Given the description of an element on the screen output the (x, y) to click on. 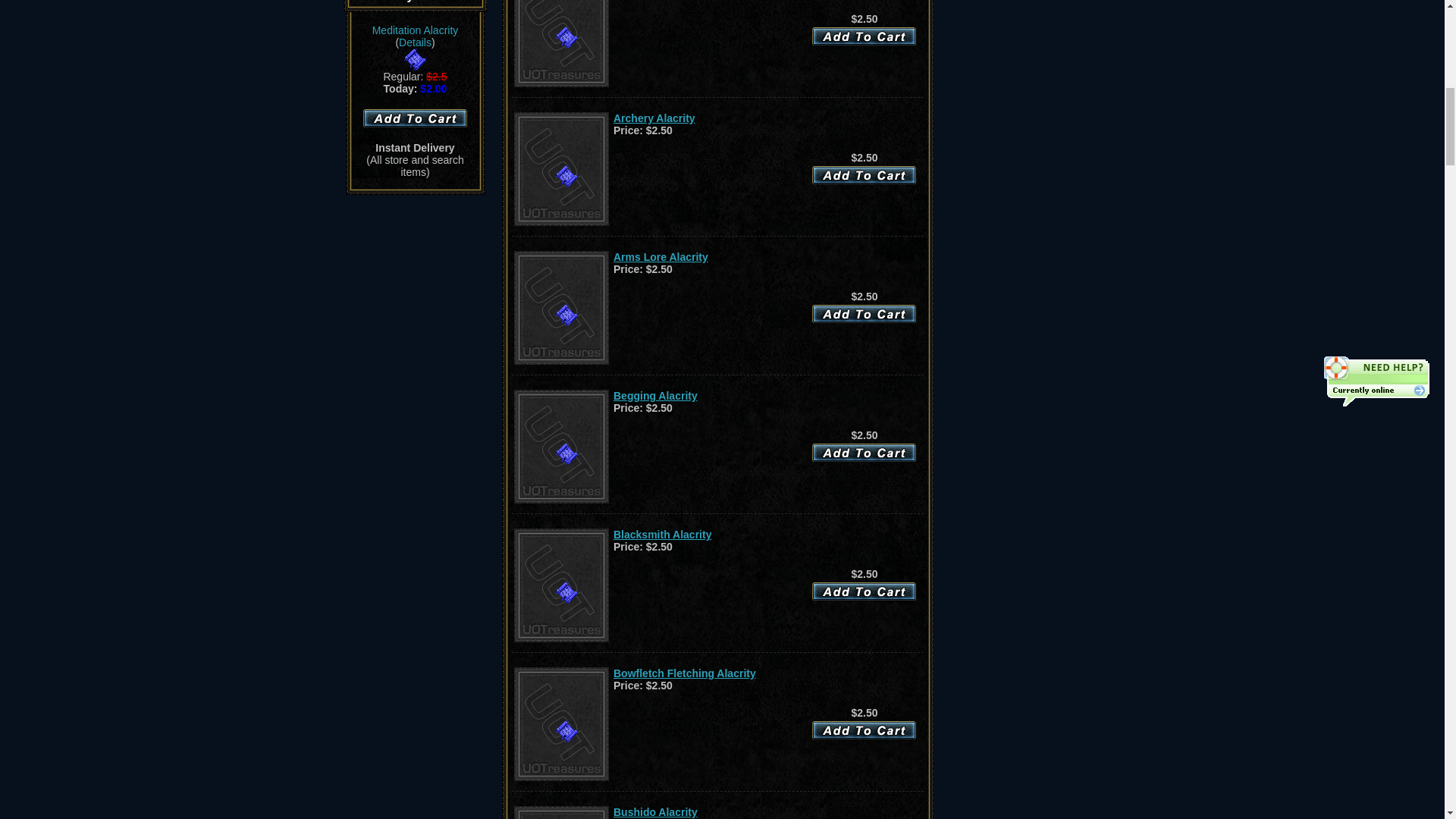
Details (414, 42)
Meditation Alacrity (415, 30)
